Given the description of an element on the screen output the (x, y) to click on. 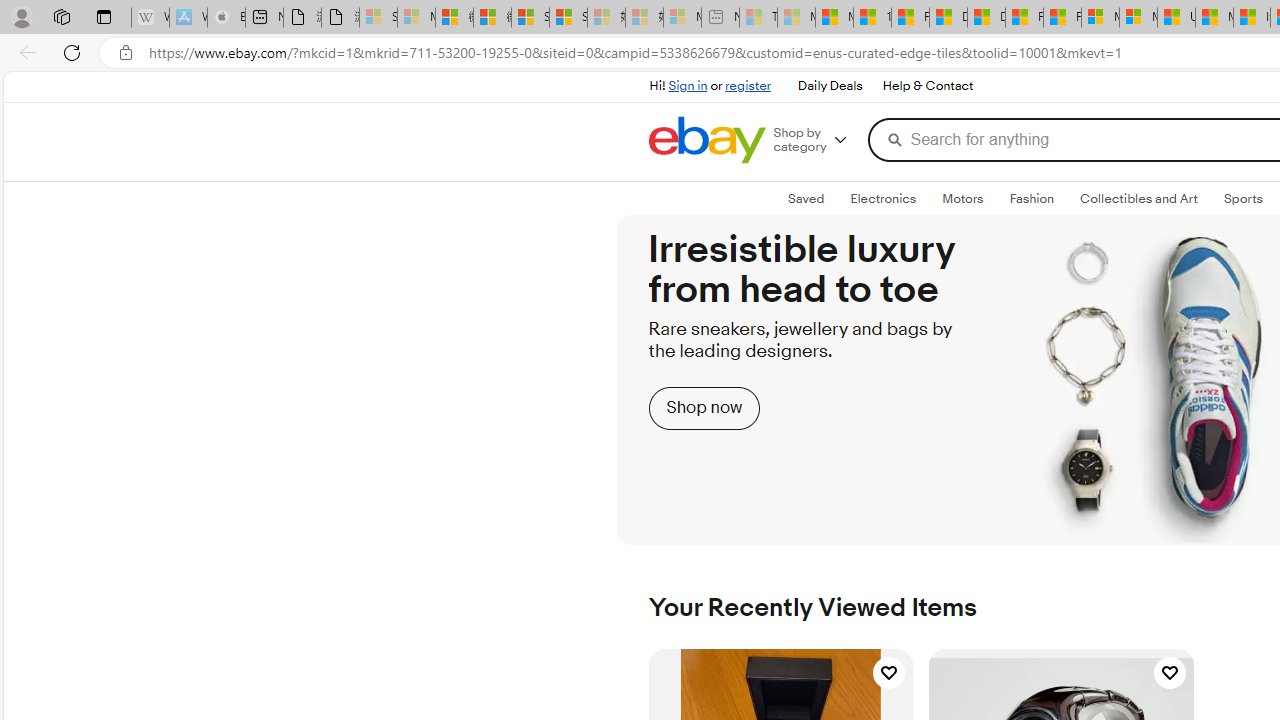
Saved (806, 198)
Collectibles and Art (1139, 198)
Help & Contact (926, 85)
Daily Deals (829, 86)
Microsoft account | Account Checkup - Sleeping (682, 17)
Daily Deals (829, 85)
SportsExpand: Sports (1243, 199)
